Given the description of an element on the screen output the (x, y) to click on. 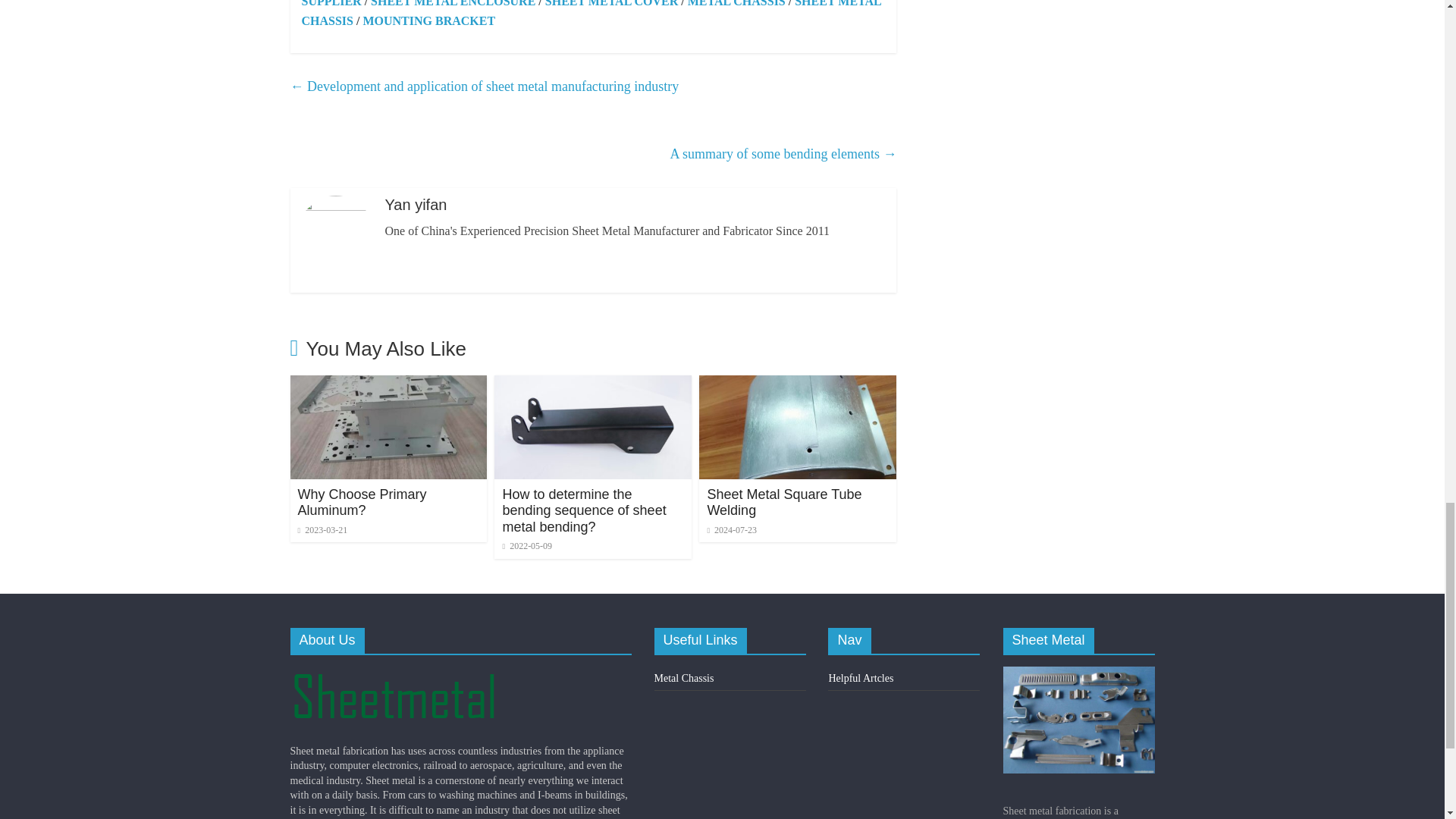
SHEET METAL COVER (611, 3)
Why Choose Primary Aluminum? (387, 384)
METAL CHASSIS (736, 3)
1:23 am (322, 529)
SHEET METAL ENCLOSURE (453, 3)
SHEET METAL SUPPLIER (576, 4)
Why Choose Primary Aluminum? (361, 502)
SHEET METAL CHASSIS (590, 13)
